Given the description of an element on the screen output the (x, y) to click on. 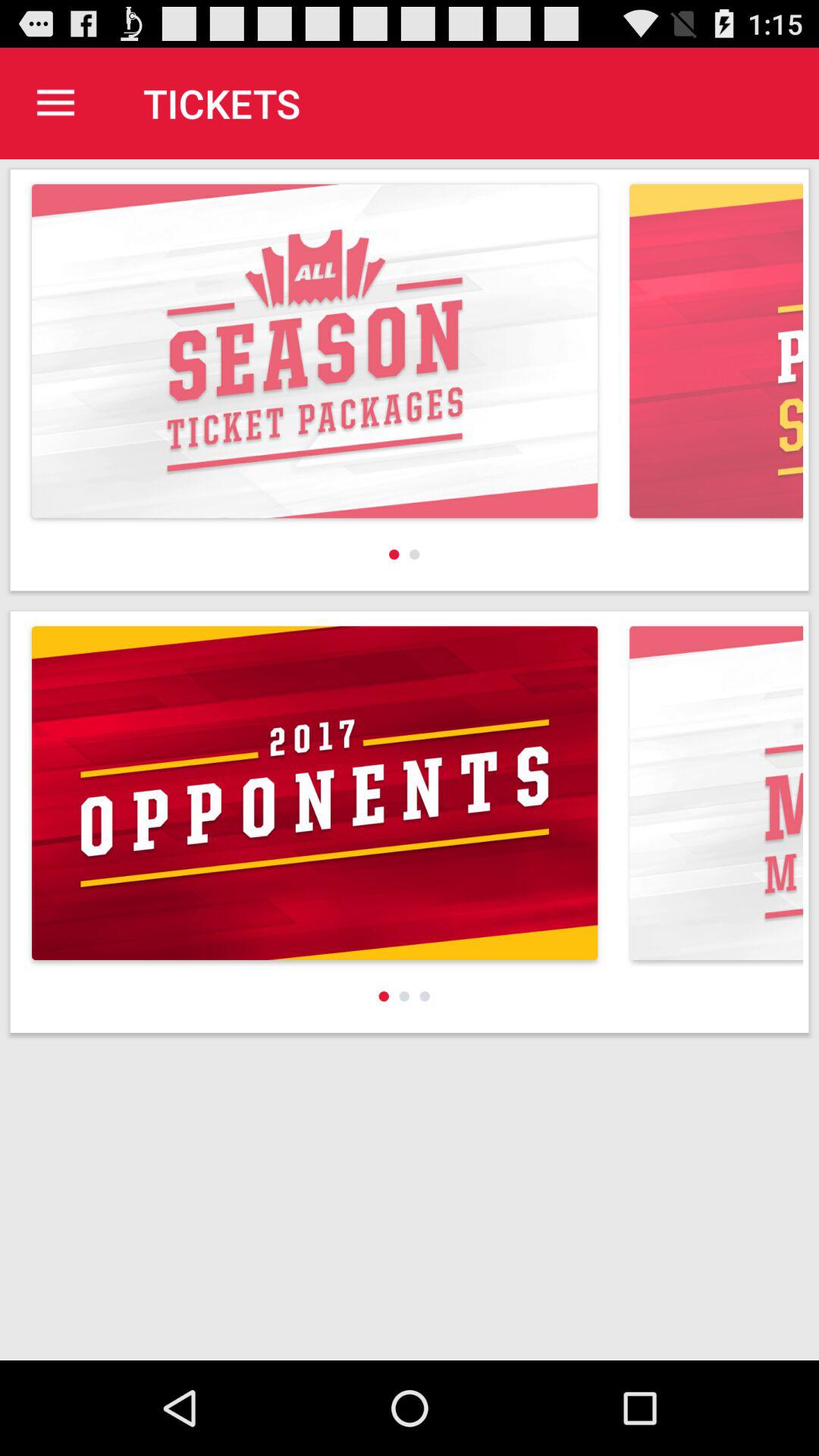
turn on the icon to the left of tickets app (55, 103)
